Given the description of an element on the screen output the (x, y) to click on. 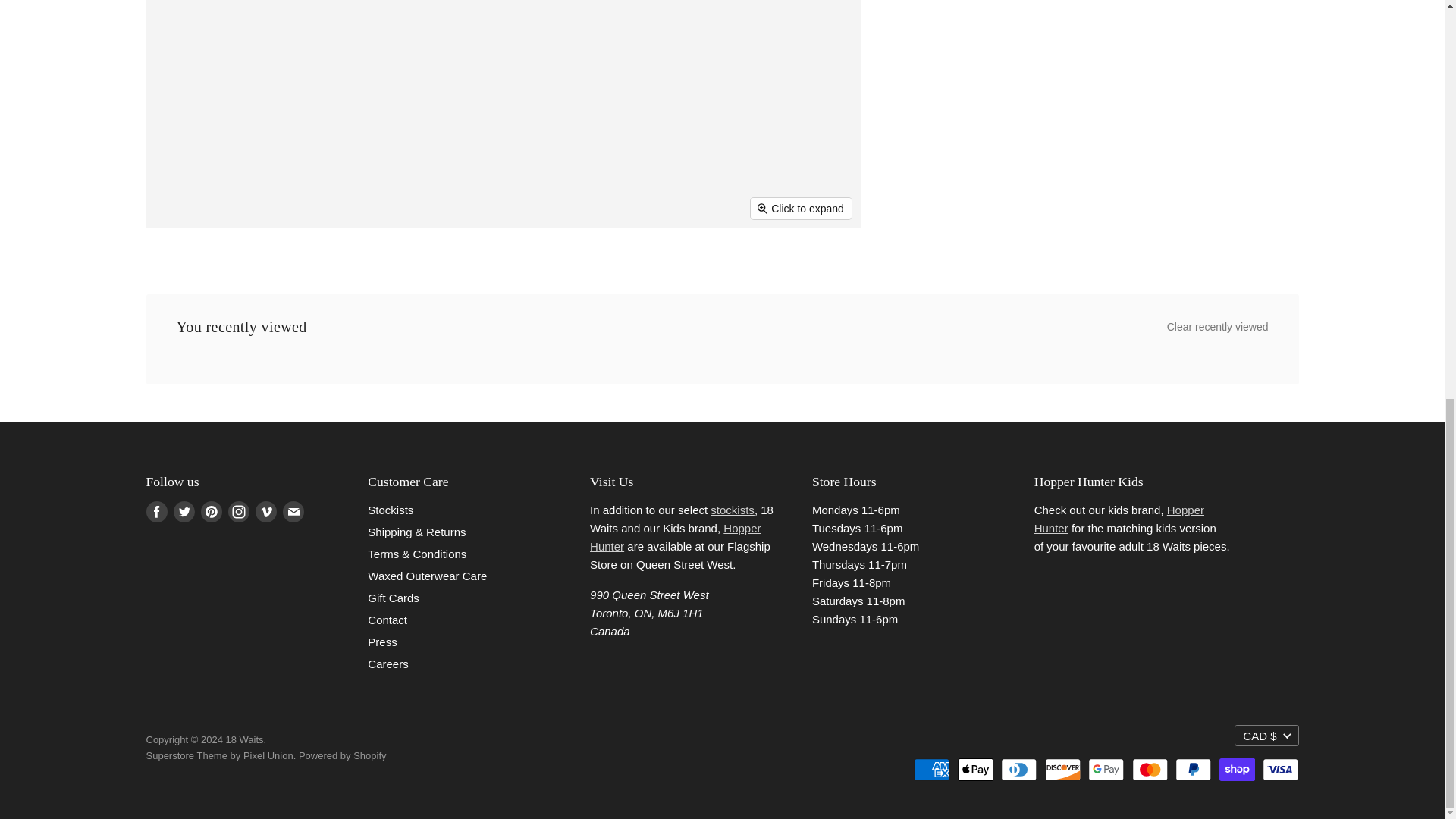
Vimeo (265, 511)
Stores (732, 509)
Twitter (183, 511)
Facebook (156, 511)
Instagram (237, 511)
Hopper Hunter Kids (1118, 518)
Pinterest (210, 511)
E-mail (292, 511)
Hopper Hunter Kids (674, 536)
